Given the description of an element on the screen output the (x, y) to click on. 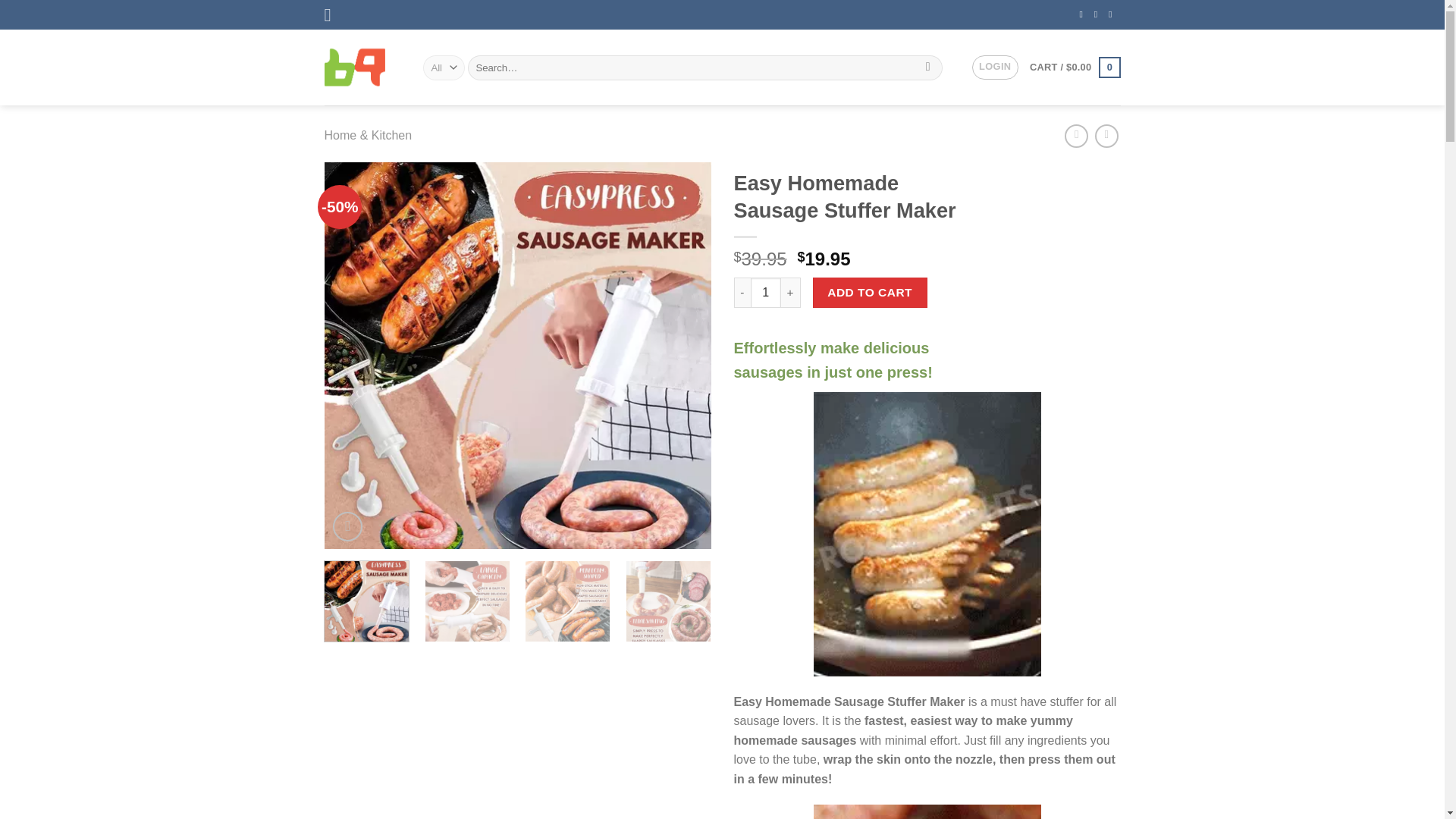
LOGIN (994, 67)
Follow on Pinterest (1098, 14)
Zoom (347, 526)
- (742, 292)
Cart (1074, 66)
Search (927, 67)
1 (765, 292)
Login (994, 67)
Follow on Instagram (1084, 14)
Bravo Goods - Make Your Life Easier (362, 67)
Follow on YouTube (1113, 14)
